Given the description of an element on the screen output the (x, y) to click on. 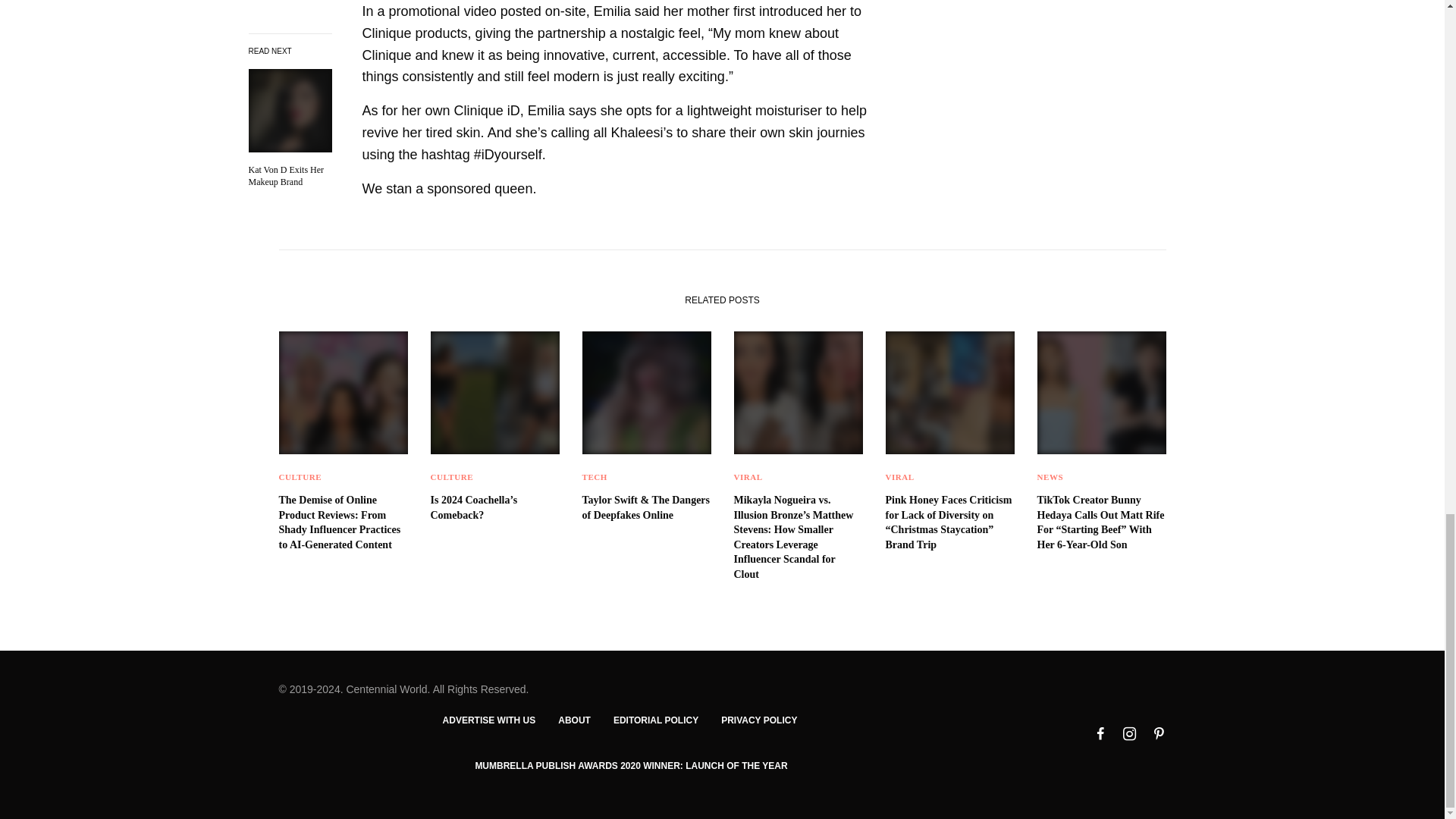
TECH (594, 476)
Emilia Clarke Is The New Face Of This Major Beauty Brand (289, 61)
VIRAL (747, 476)
CULTURE (300, 476)
Kat Von D Exits Her Makeup Brand (289, 61)
NEWS (1050, 476)
VIRAL (899, 476)
CULTURE (452, 476)
